Given the description of an element on the screen output the (x, y) to click on. 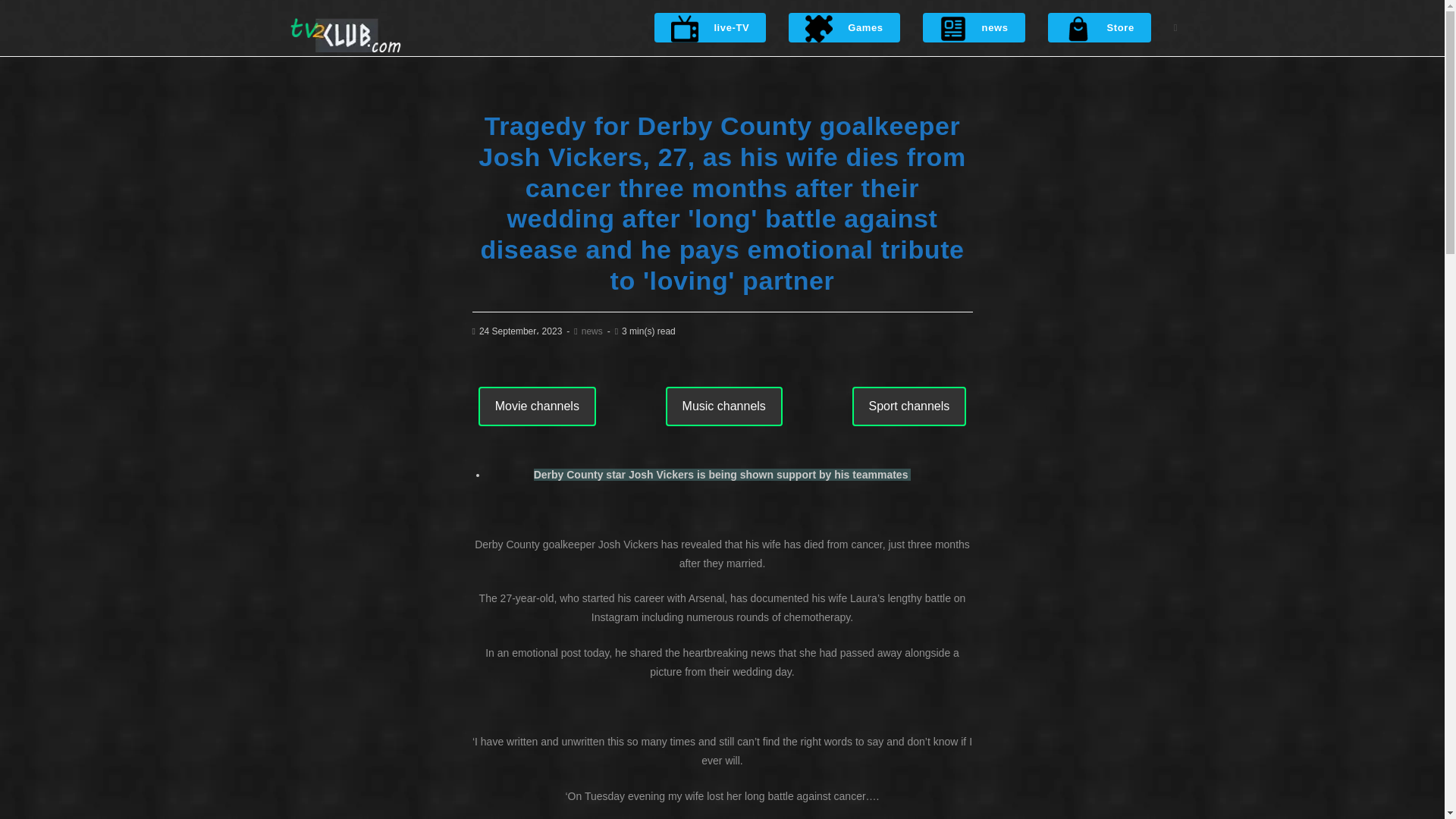
Music channels (724, 406)
live-TV (710, 28)
news (591, 330)
Store (1098, 28)
Games (844, 28)
Movie channels (537, 406)
news (973, 28)
Sport channels (908, 406)
